Given the description of an element on the screen output the (x, y) to click on. 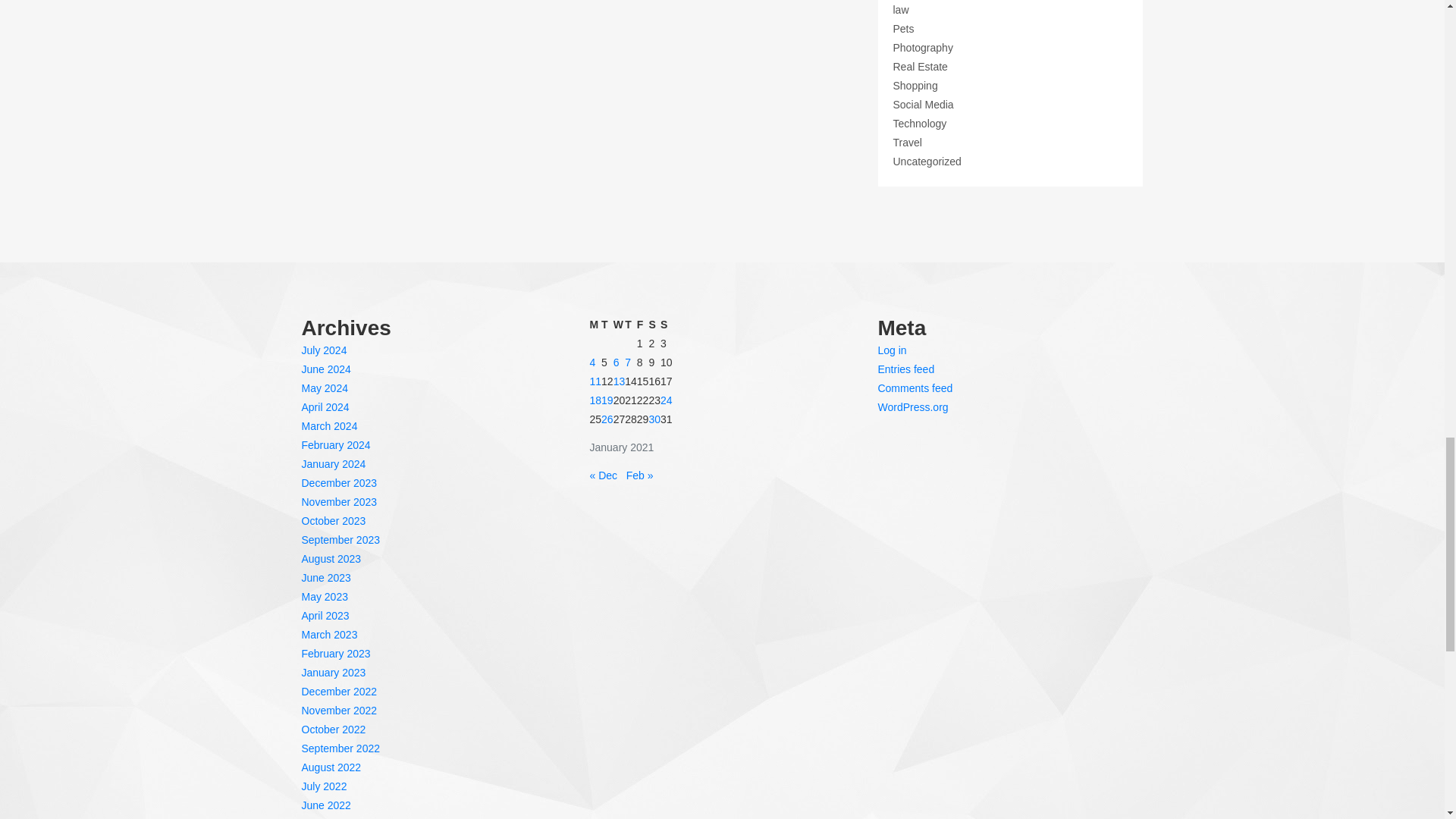
Monday (595, 324)
Wednesday (619, 324)
Thursday (630, 324)
Saturday (654, 324)
Tuesday (606, 324)
Sunday (666, 324)
Friday (643, 324)
